Given the description of an element on the screen output the (x, y) to click on. 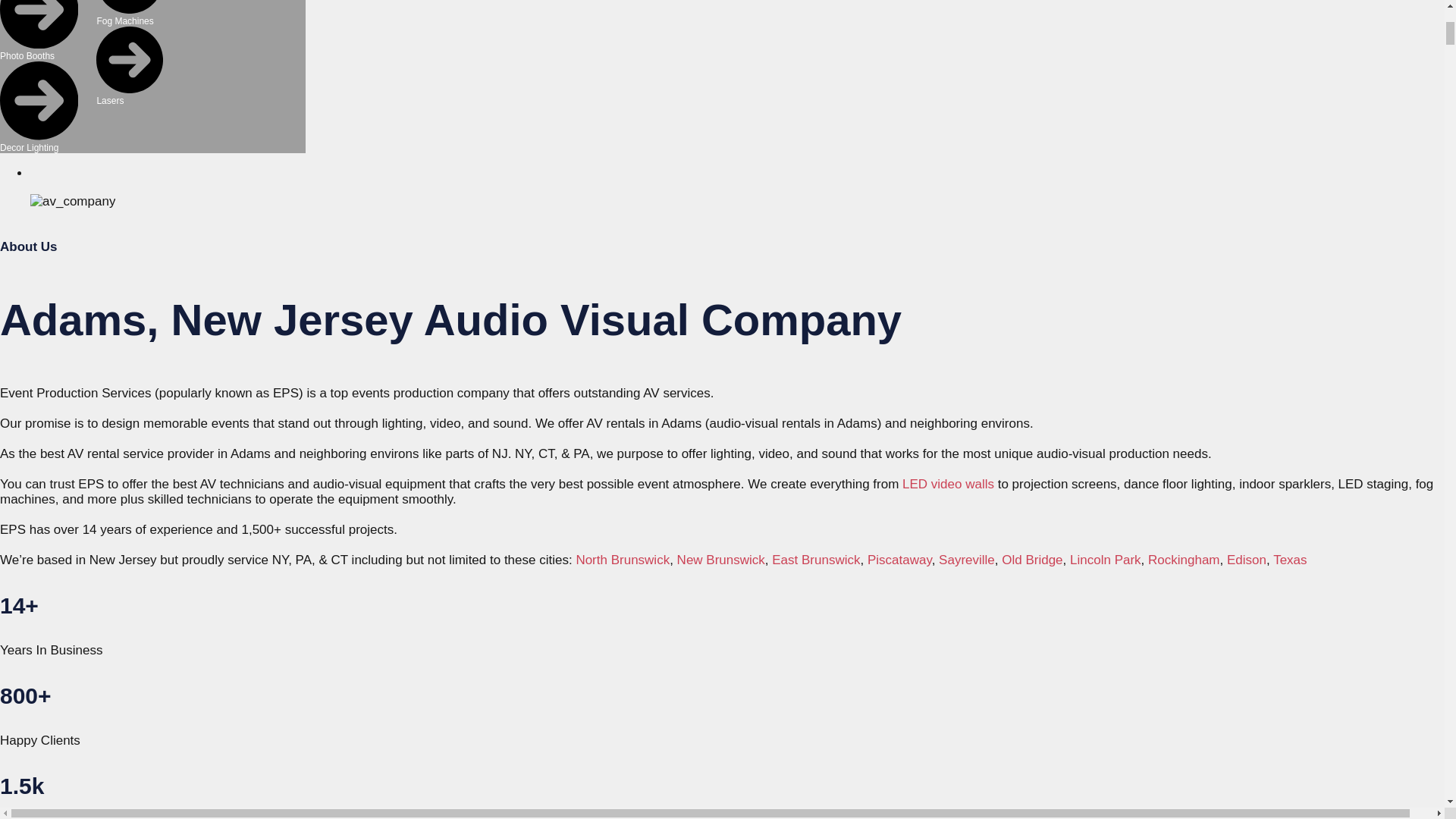
Lincoln Park (1105, 559)
East Brunswick (815, 559)
Rockingham (1184, 559)
LED video walls (948, 483)
Sayreville (966, 559)
Piscataway (899, 559)
Texas (1289, 559)
North Brunswick (622, 559)
New Brunswick (721, 559)
Old Bridge (1031, 559)
Edison (1246, 559)
